Given the description of an element on the screen output the (x, y) to click on. 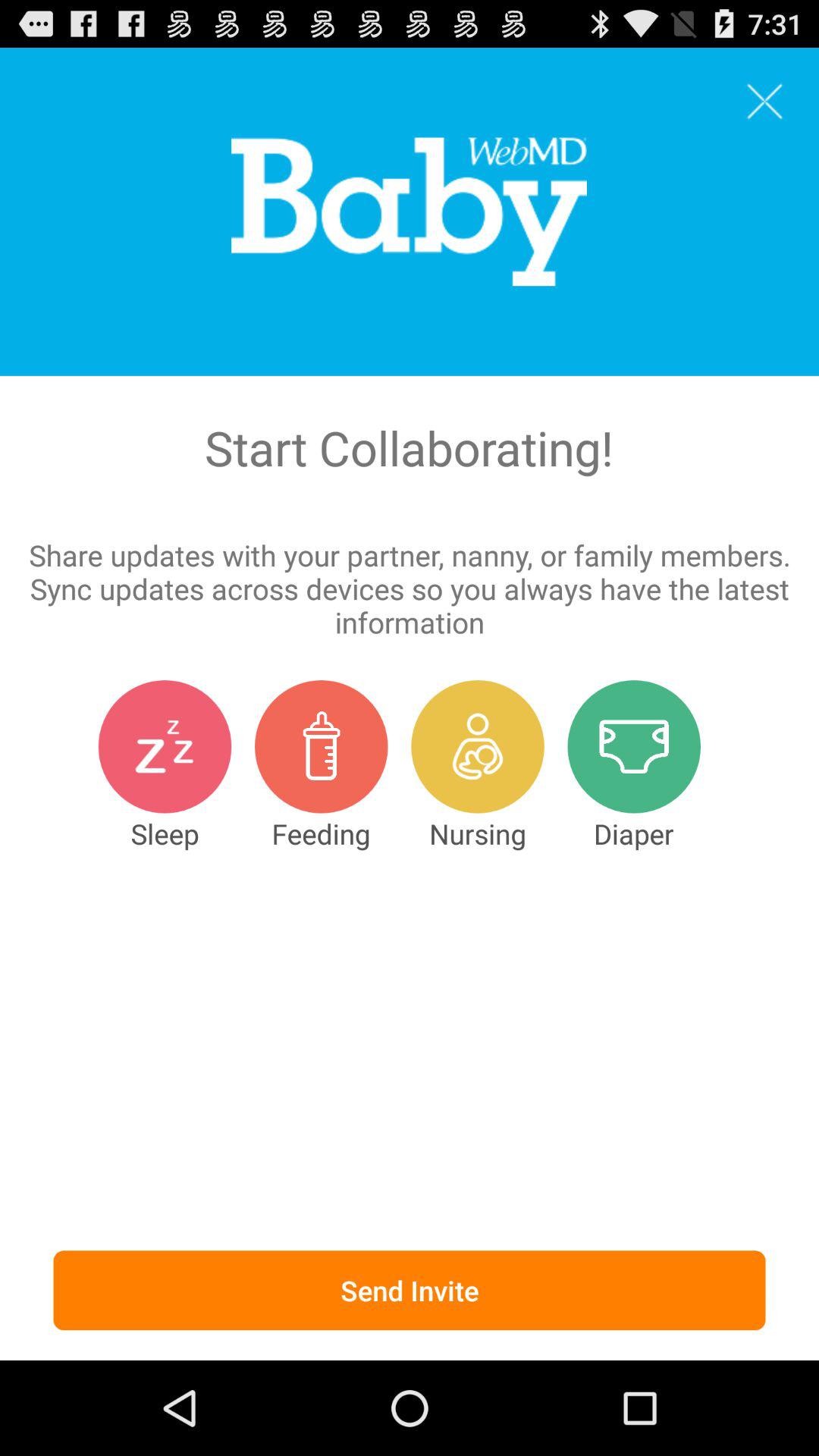
launch the send invite item (409, 1290)
